Given the description of an element on the screen output the (x, y) to click on. 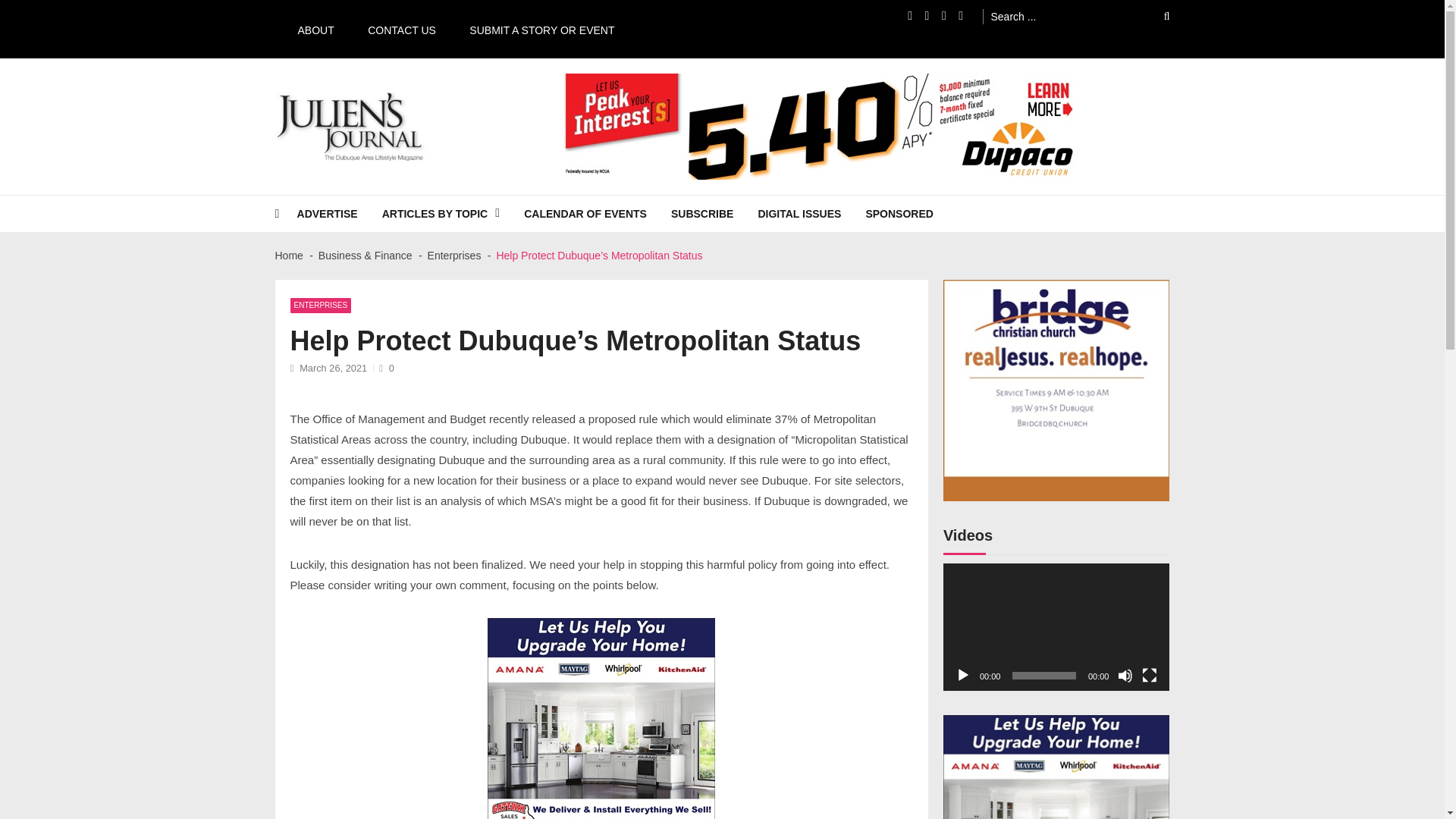
Julien's Journal (331, 168)
ABOUT (307, 29)
CONTACT US (394, 29)
Search (1156, 15)
SUBMIT A STORY OR EVENT (533, 29)
Search (1156, 15)
Play (963, 675)
Mute (1125, 675)
Fullscreen (1149, 675)
Search (1156, 15)
